Given the description of an element on the screen output the (x, y) to click on. 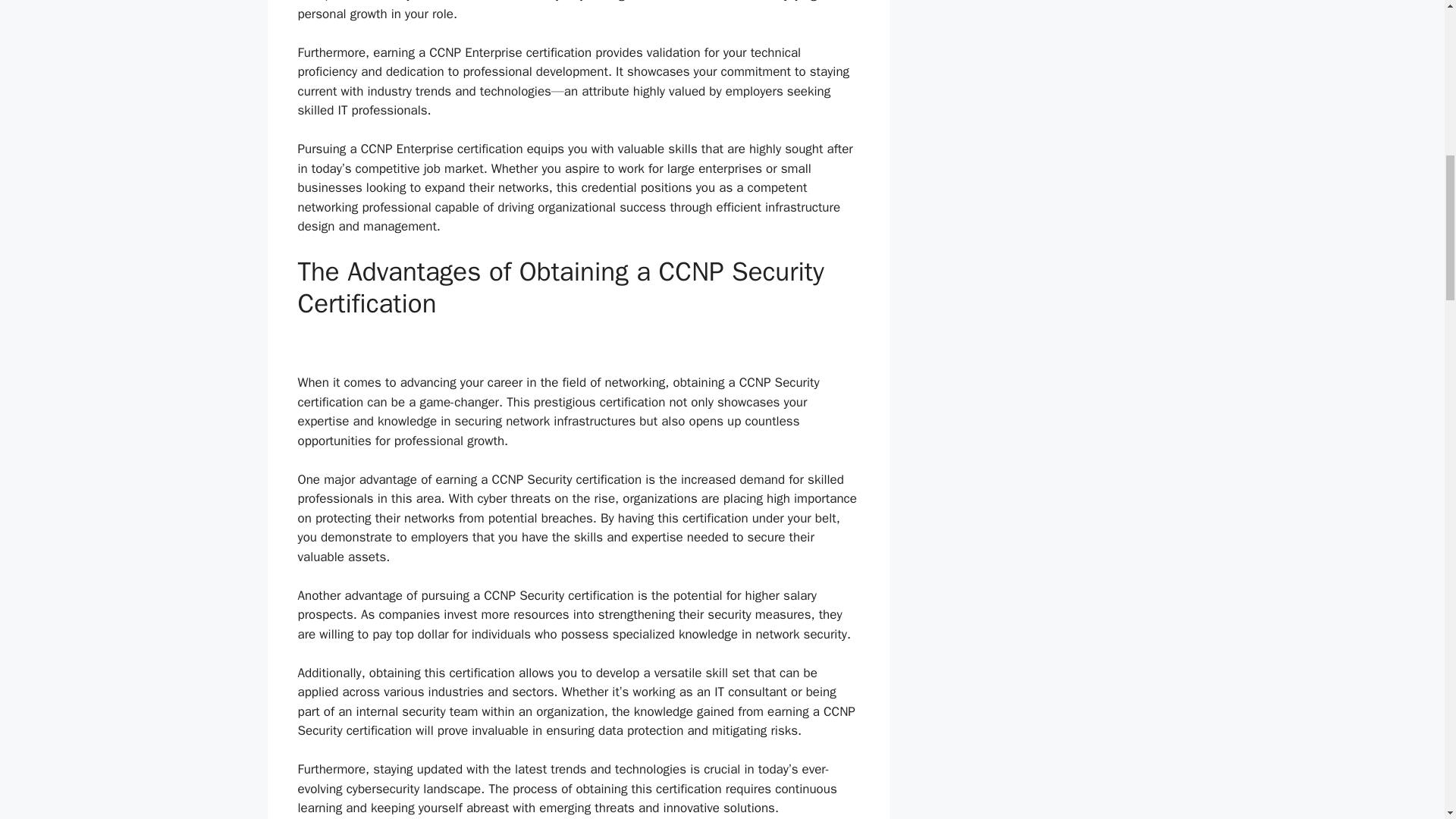
Scroll back to top (1406, 720)
